Given the description of an element on the screen output the (x, y) to click on. 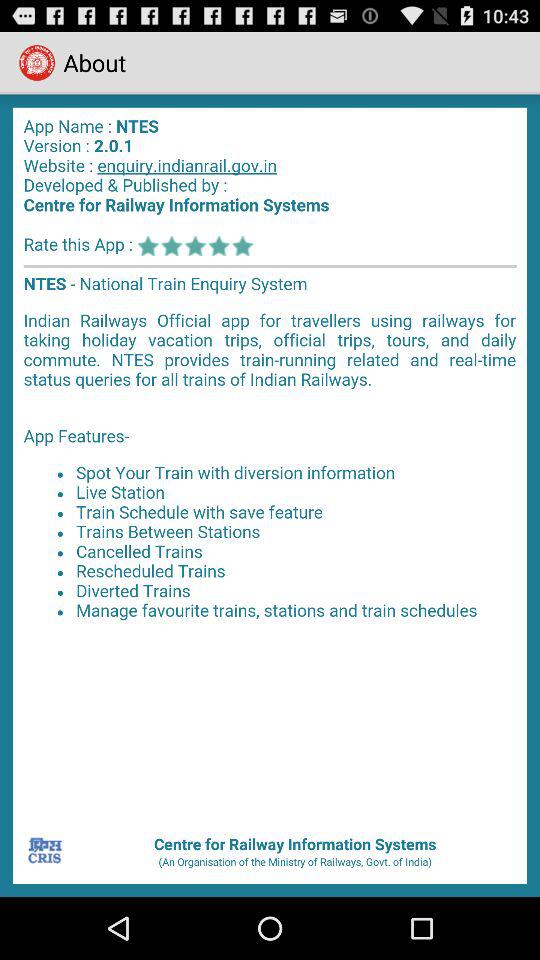
app about page (269, 462)
